Given the description of an element on the screen output the (x, y) to click on. 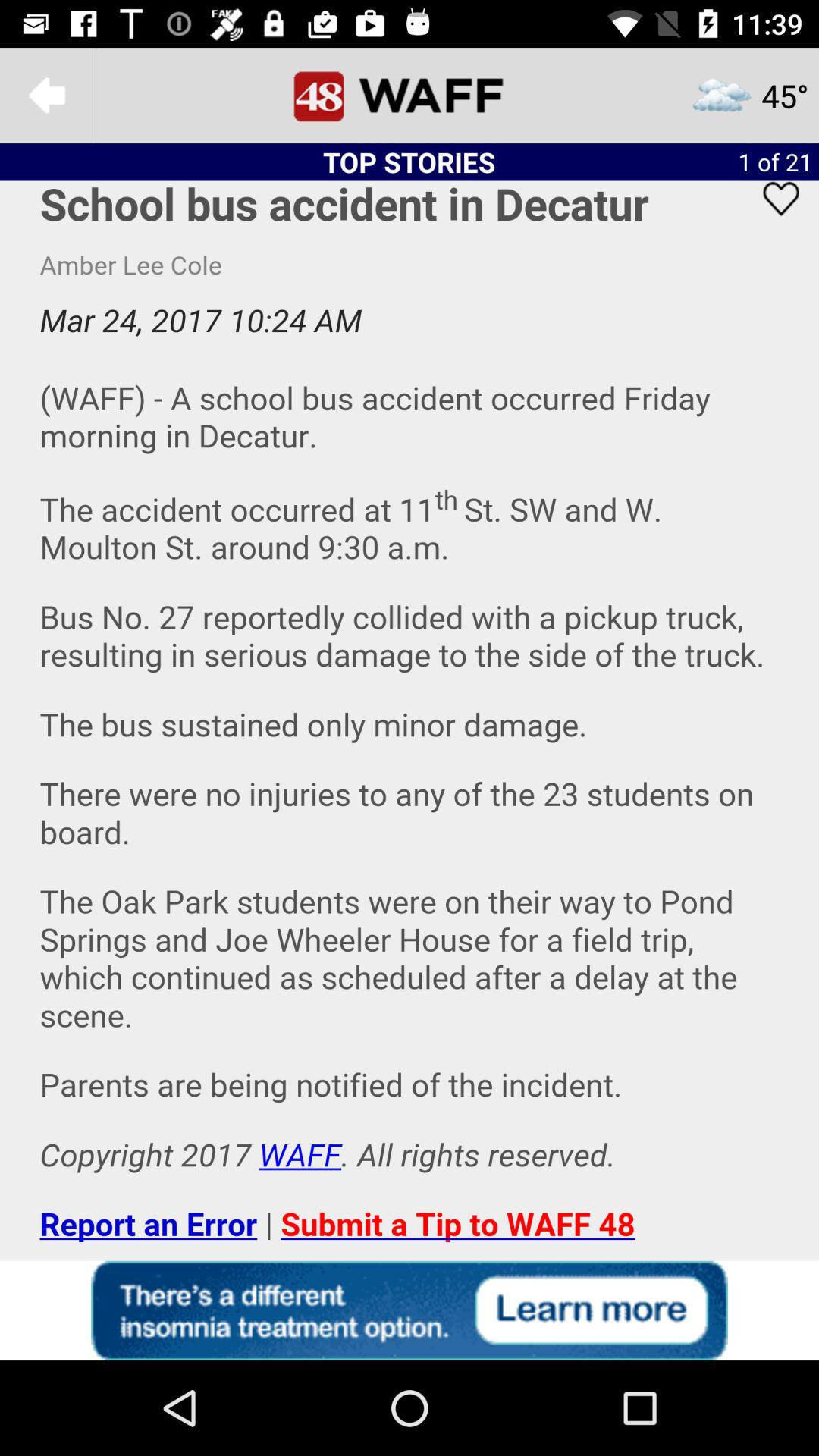
advertisement (409, 1310)
